Given the description of an element on the screen output the (x, y) to click on. 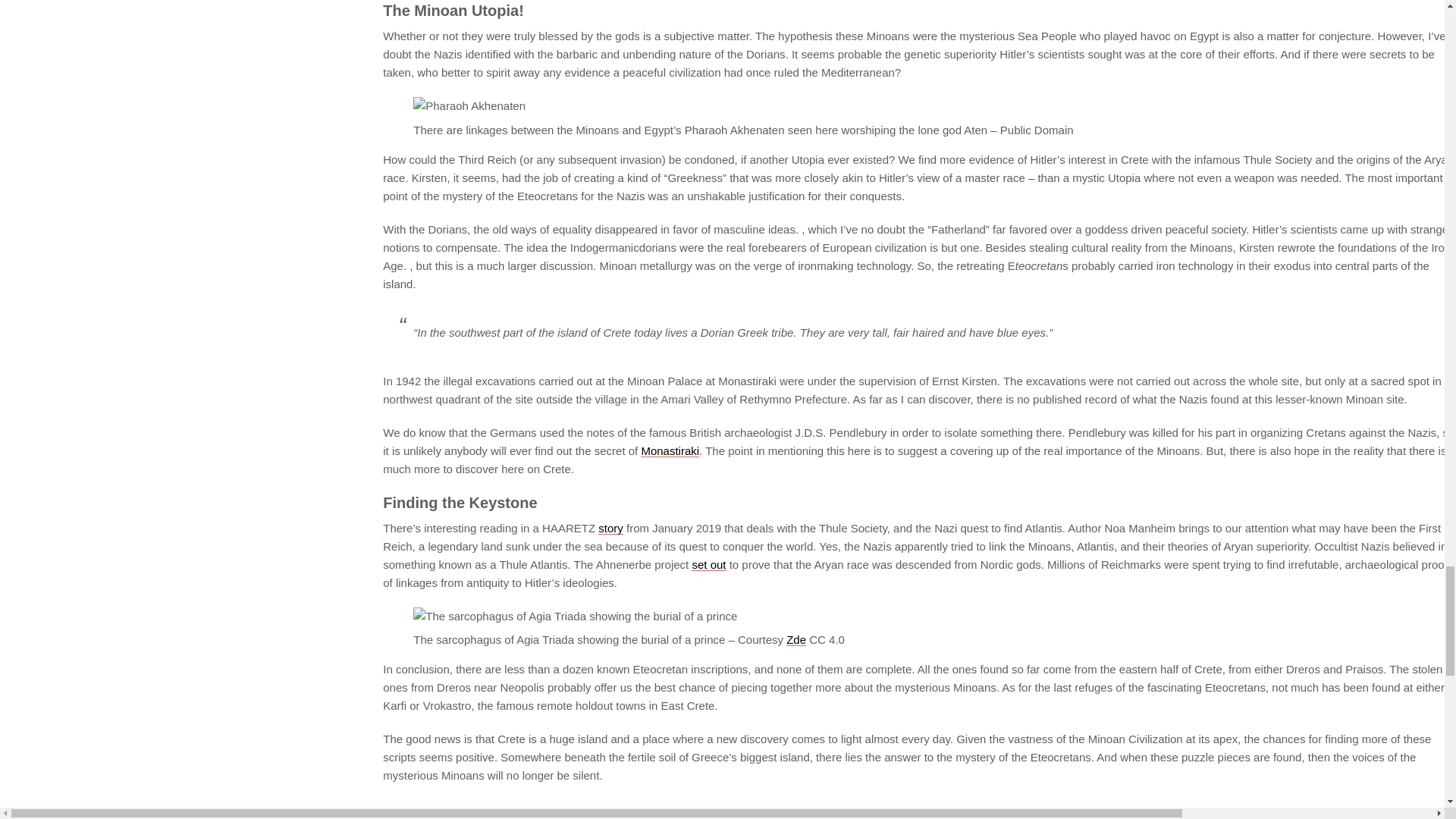
Monastiraki (669, 450)
story (610, 527)
set out (708, 563)
Zde (796, 639)
